Given the description of an element on the screen output the (x, y) to click on. 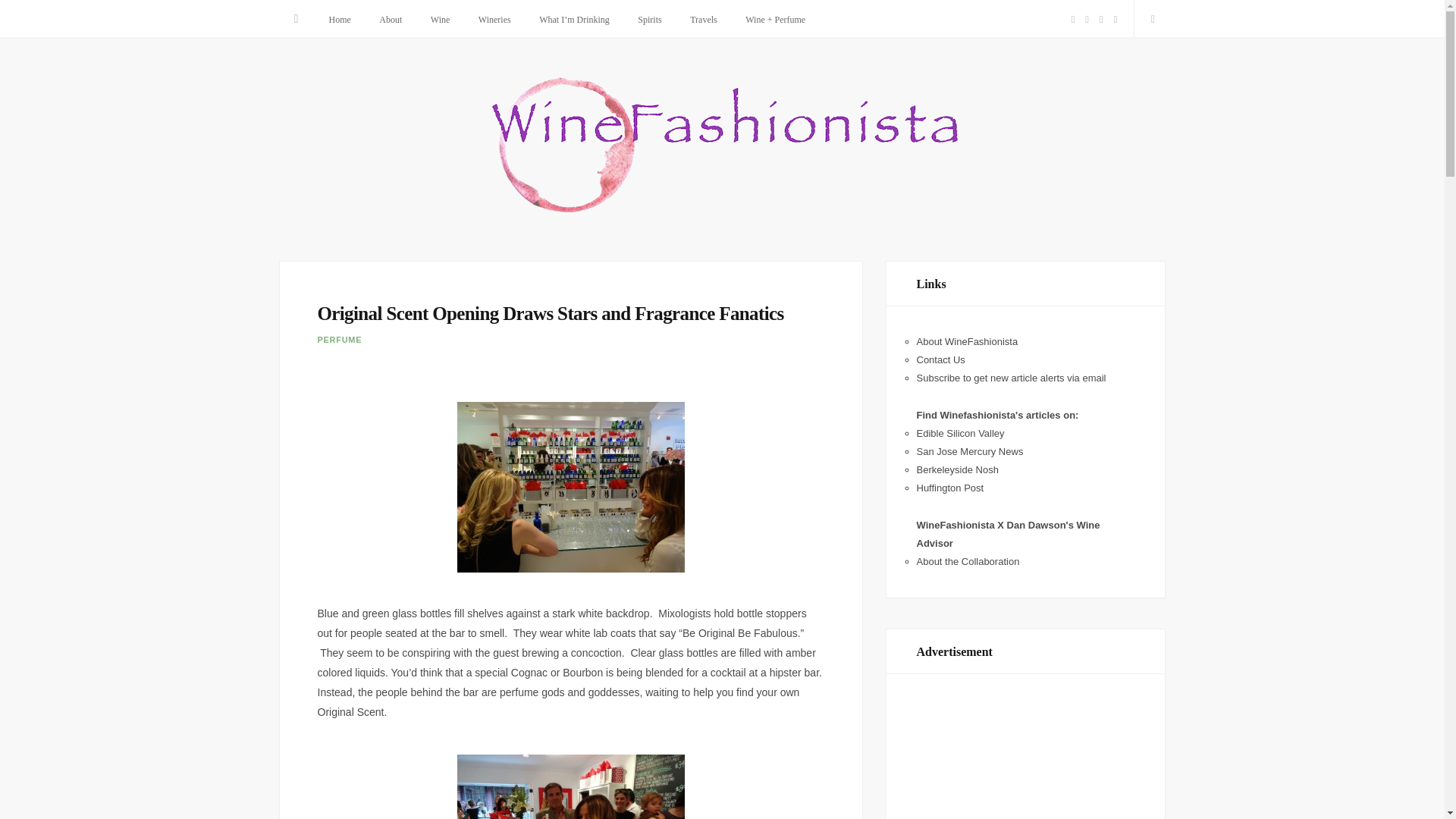
Wineries (494, 19)
WineFashionista (721, 147)
About (390, 19)
Wine (440, 19)
Advertisement (1024, 760)
Travels (703, 19)
PERFUME (339, 338)
Home (338, 19)
Menu (296, 18)
Spirits (649, 19)
